Given the description of an element on the screen output the (x, y) to click on. 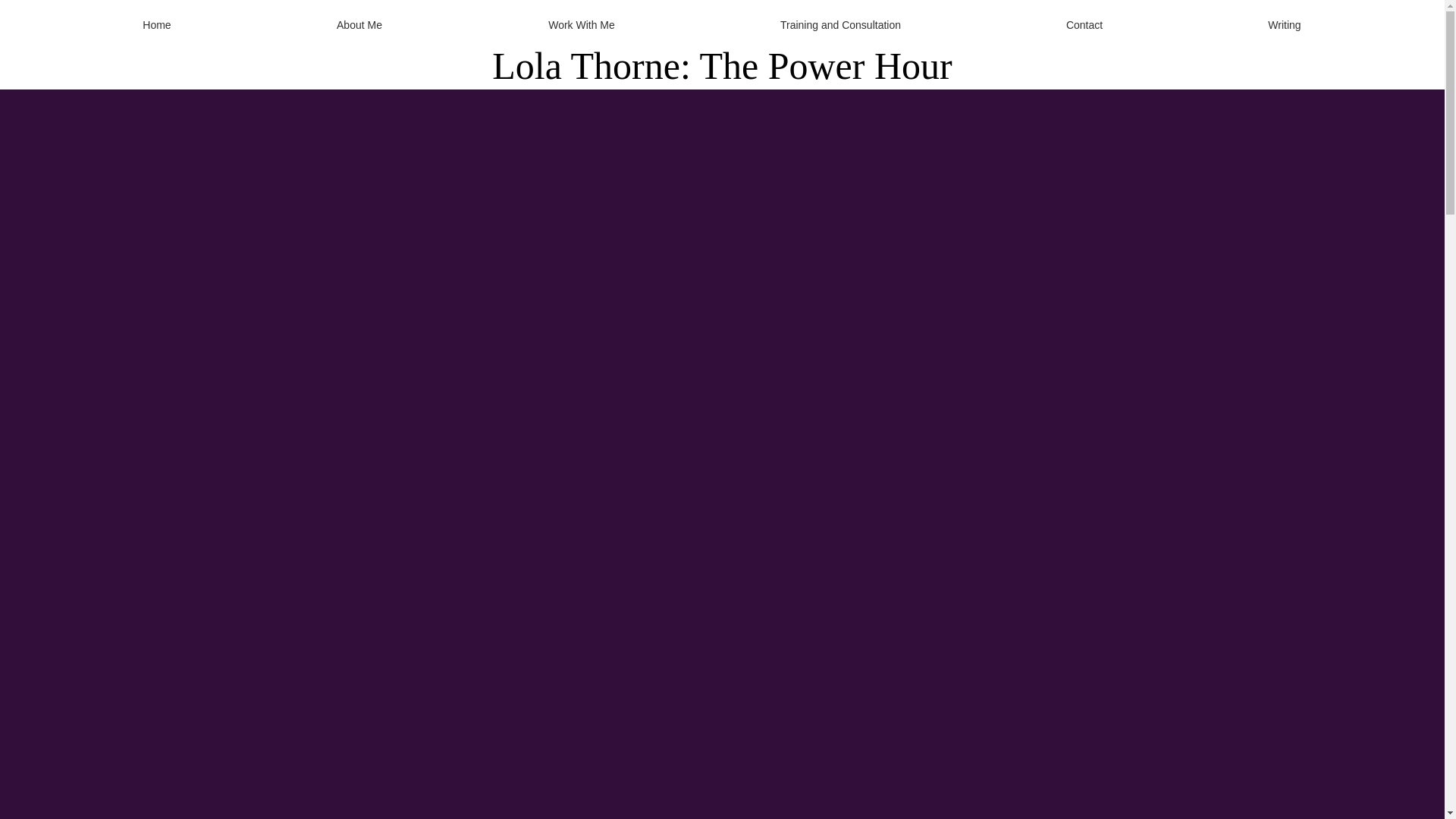
Work With Me (581, 24)
Contact (1084, 24)
About Me (359, 24)
Writing (1284, 24)
Home (157, 24)
Training and Consultation (840, 24)
